Given the description of an element on the screen output the (x, y) to click on. 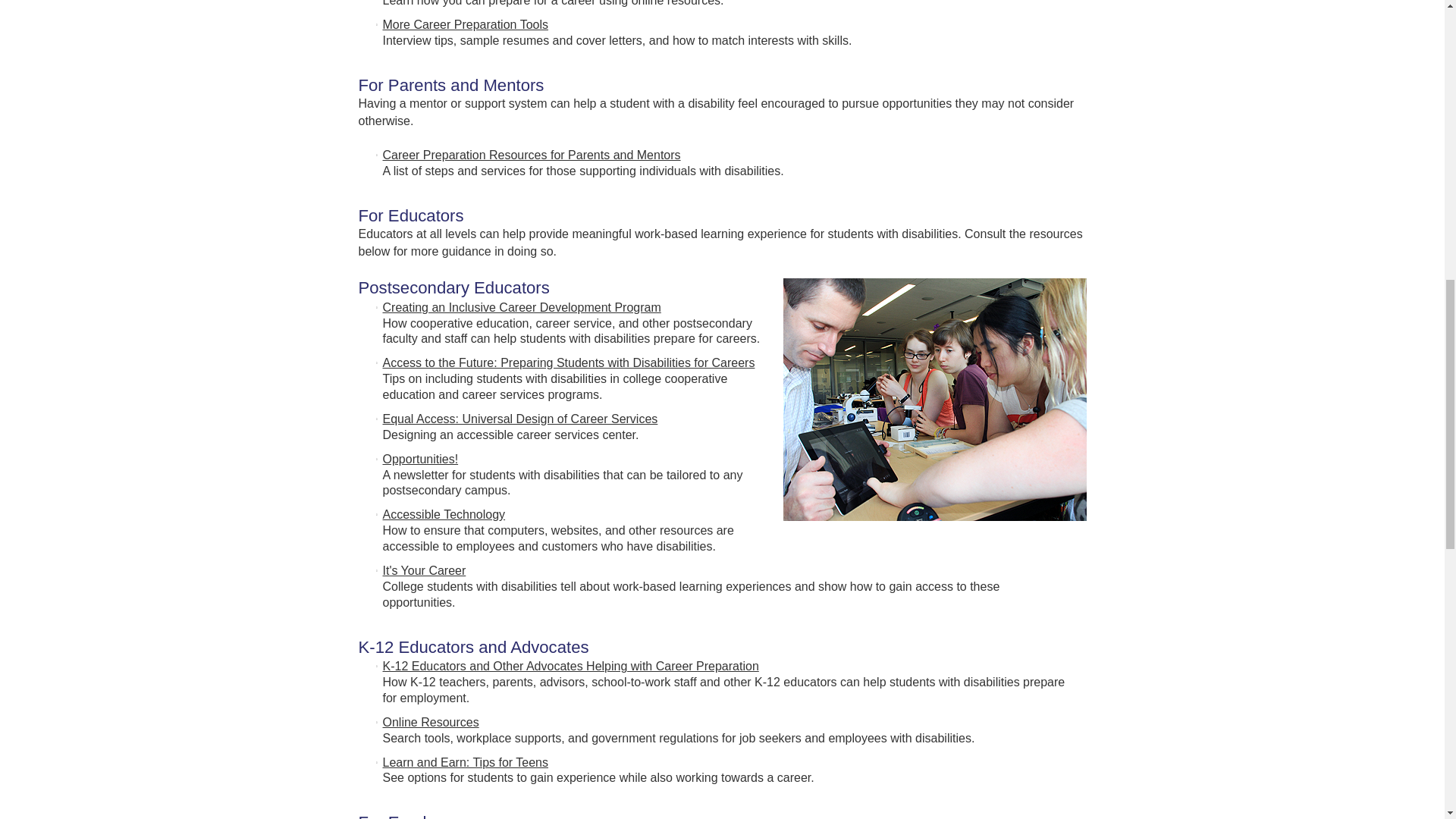
Instructor conducting a demo for a group of students (925, 408)
